Given the description of an element on the screen output the (x, y) to click on. 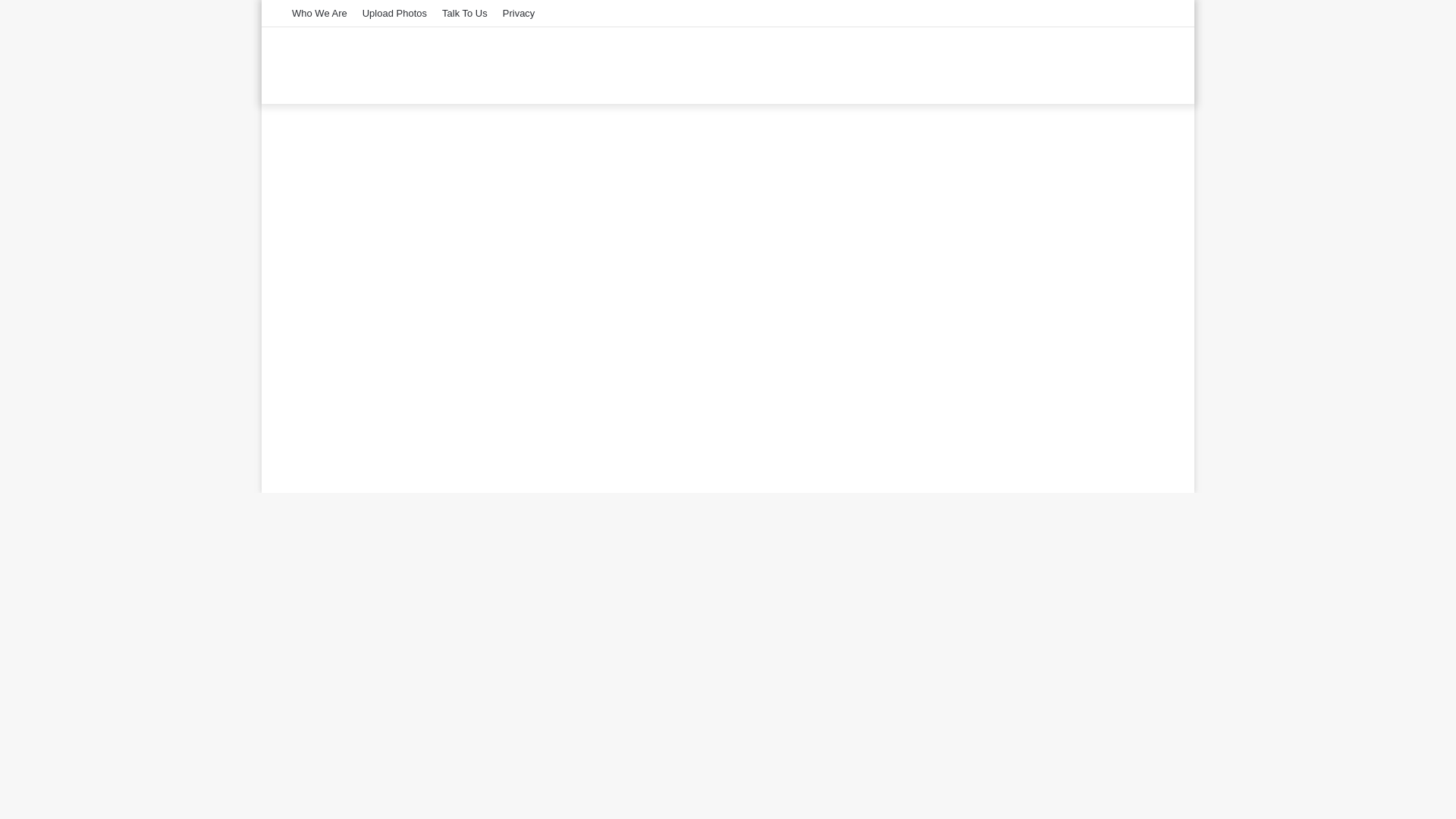
Twitter (1091, 13)
YouTube (1136, 13)
Who We Are (319, 13)
Talk To Us (464, 13)
Facebook (1069, 13)
Pinterest (1114, 13)
Upload Photos (394, 13)
RSS (1046, 13)
Privacy (519, 13)
Instagram (1160, 13)
